Given the description of an element on the screen output the (x, y) to click on. 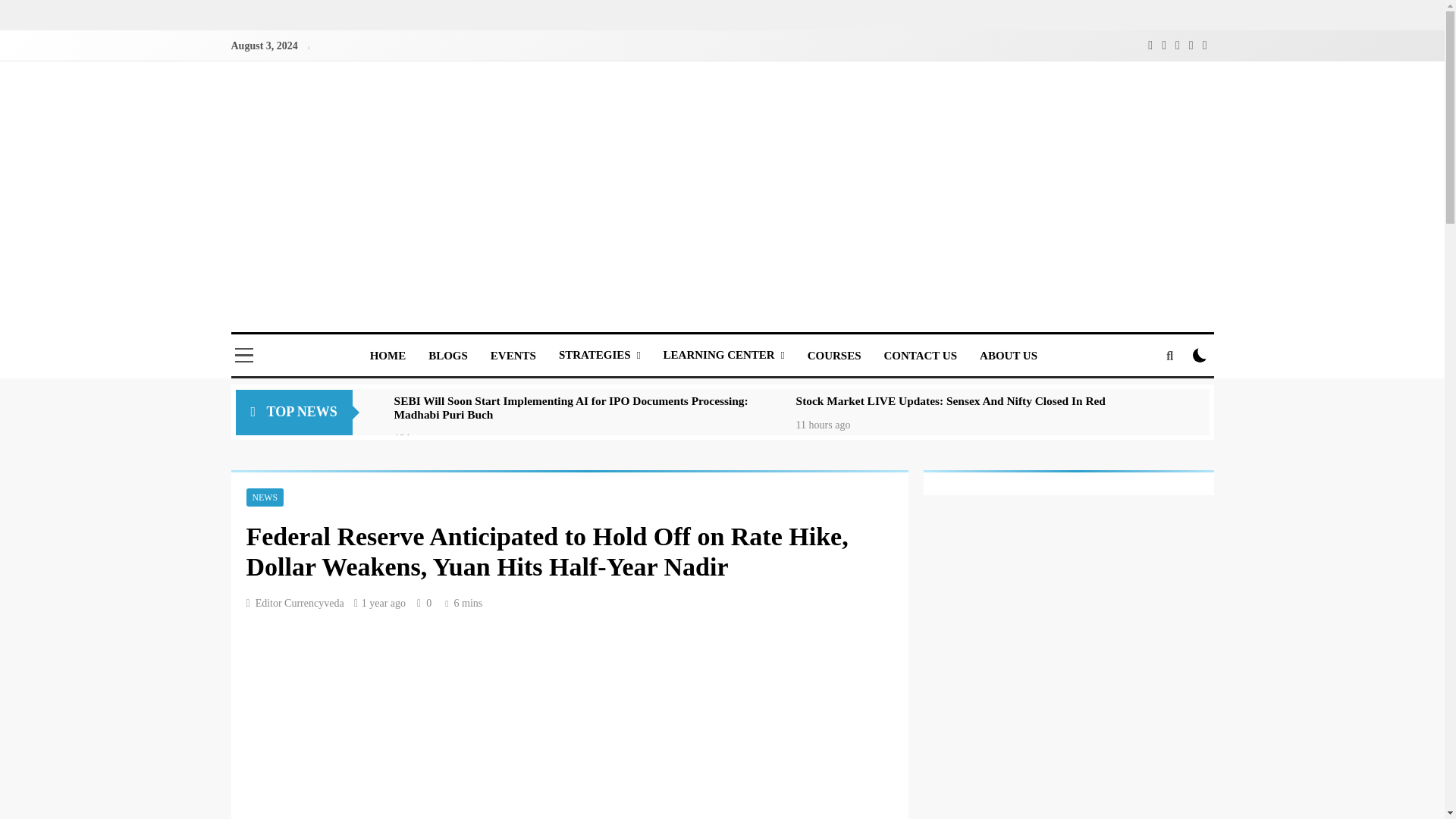
LEARNING CENTER (724, 354)
STRATEGIES (599, 354)
10 hours ago (421, 437)
EVENTS (513, 354)
ABOUT US (1008, 354)
COURSES (834, 354)
CONTACT US (920, 354)
BLOGS (447, 354)
11 hours ago (823, 423)
Stock Market LIVE Updates: Sensex And Nifty Closed In Red (950, 400)
Stock Market LIVE Updates: Sensex And Nifty Closed In Red (950, 400)
CurrencyVeda (340, 351)
on (1199, 355)
